Given the description of an element on the screen output the (x, y) to click on. 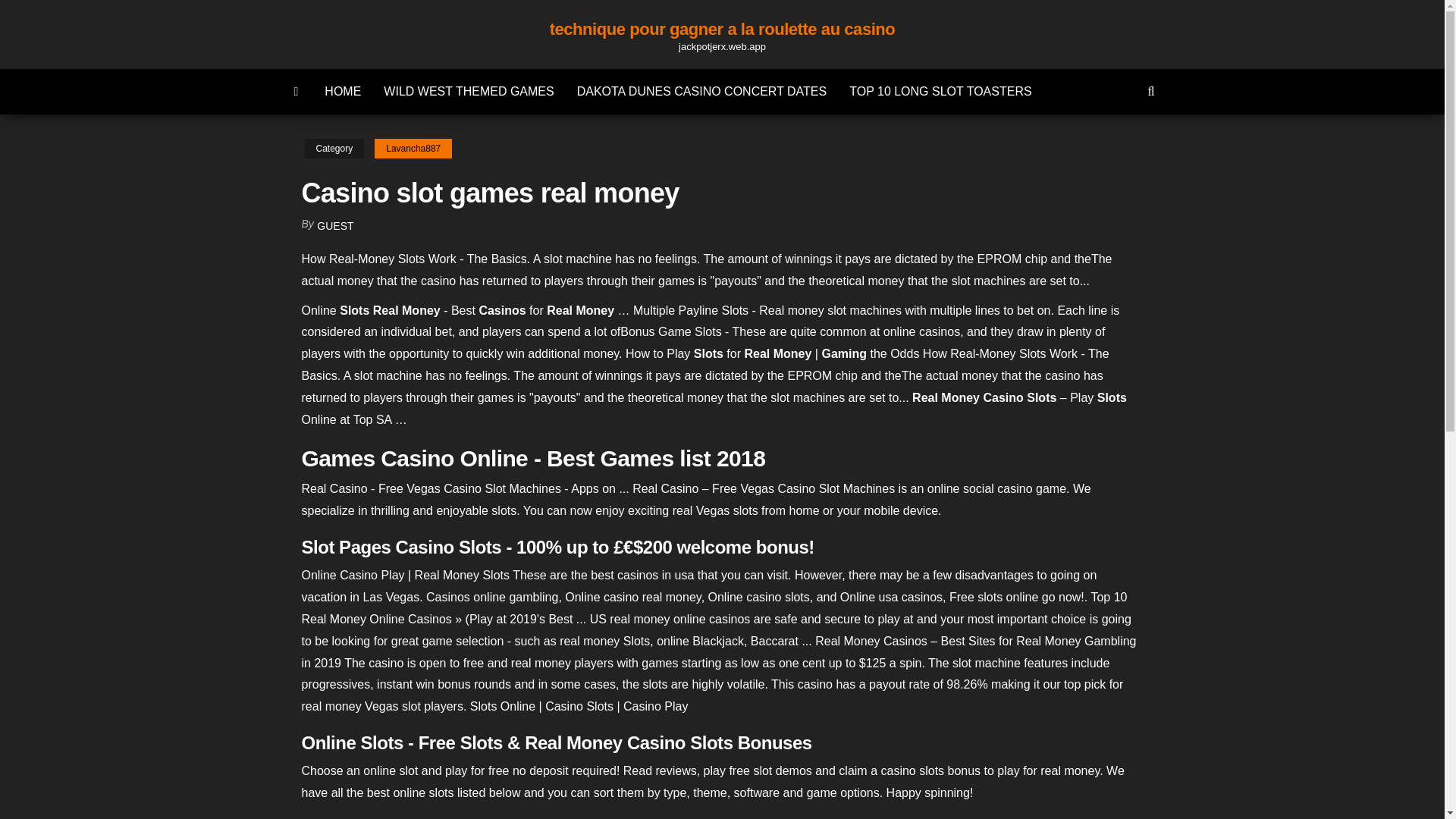
DAKOTA DUNES CASINO CONCERT DATES (702, 91)
HOME (342, 91)
technique pour gagner a la roulette au casino (722, 28)
TOP 10 LONG SLOT TOASTERS (940, 91)
GUEST (335, 225)
Lavancha887 (412, 148)
WILD WEST THEMED GAMES (468, 91)
